Given the description of an element on the screen output the (x, y) to click on. 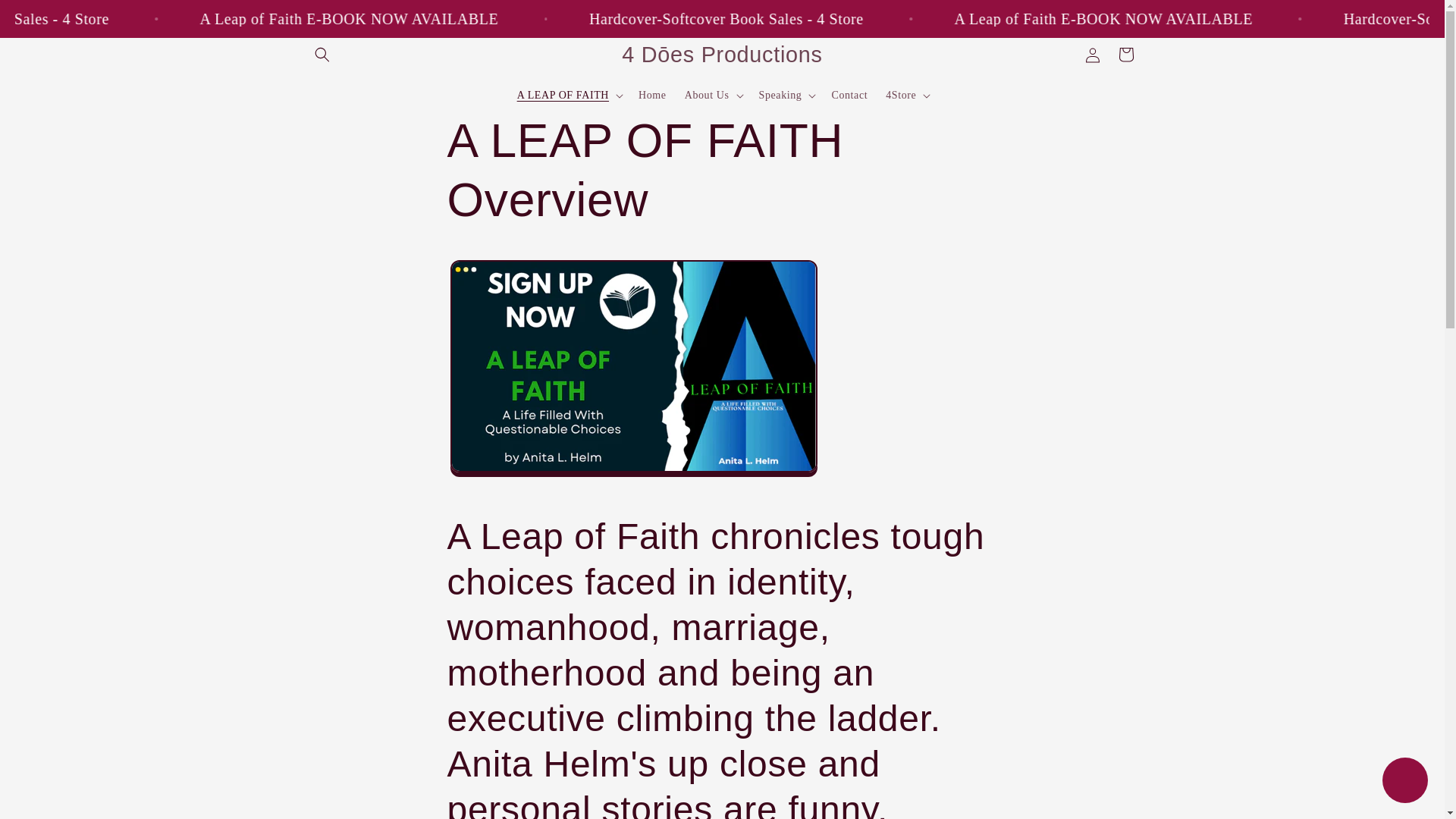
Skip to content (46, 18)
Shopify online store chat (1404, 781)
